Given the description of an element on the screen output the (x, y) to click on. 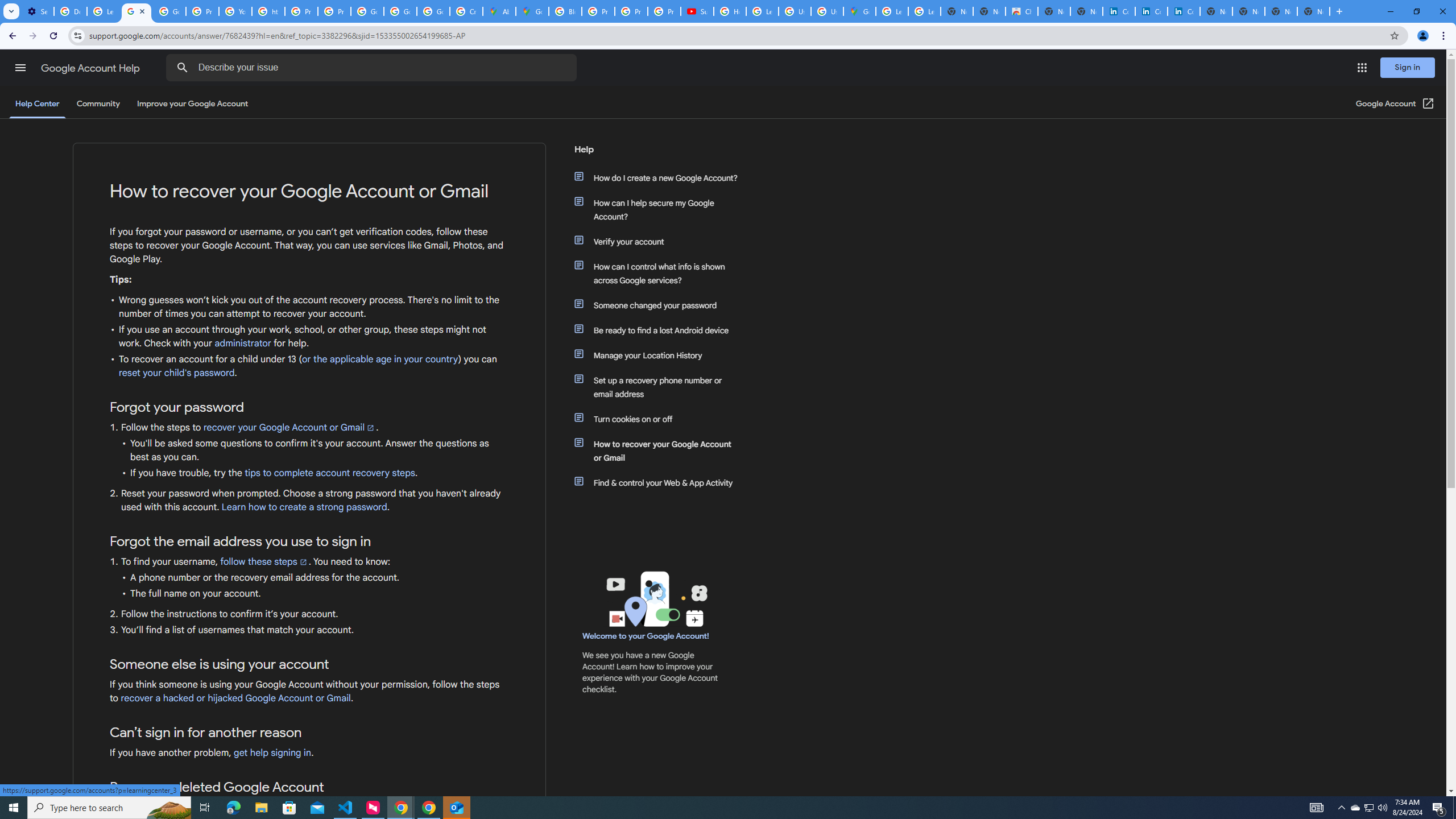
Set up a recovery phone number or email address (661, 387)
get help signing in (272, 752)
How can I control what info is shown across Google services? (661, 273)
Someone changed your password (661, 305)
follow these steps (263, 561)
How do I create a new Google Account? (661, 177)
